Given the description of an element on the screen output the (x, y) to click on. 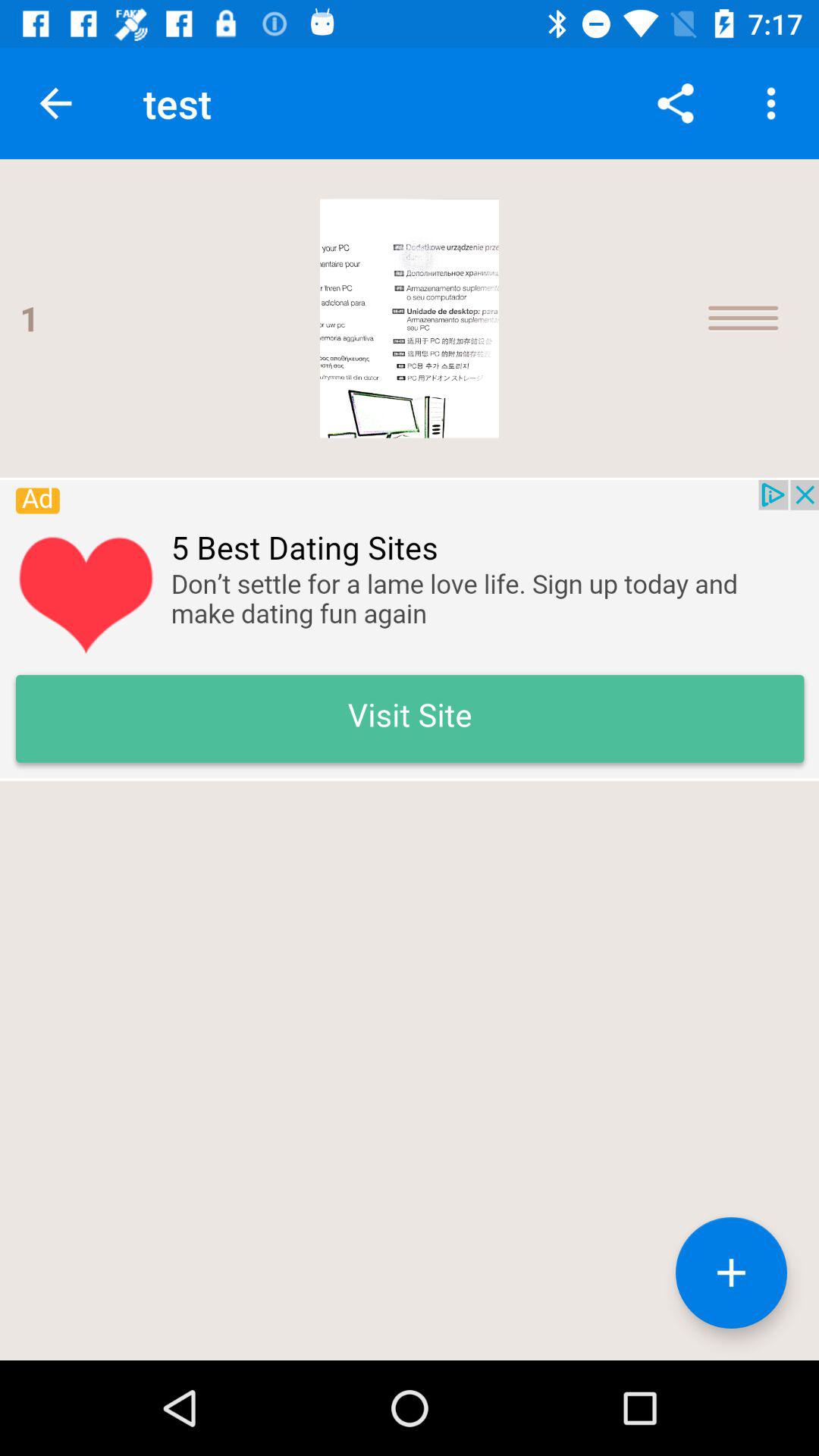
add file (731, 1272)
